Given the description of an element on the screen output the (x, y) to click on. 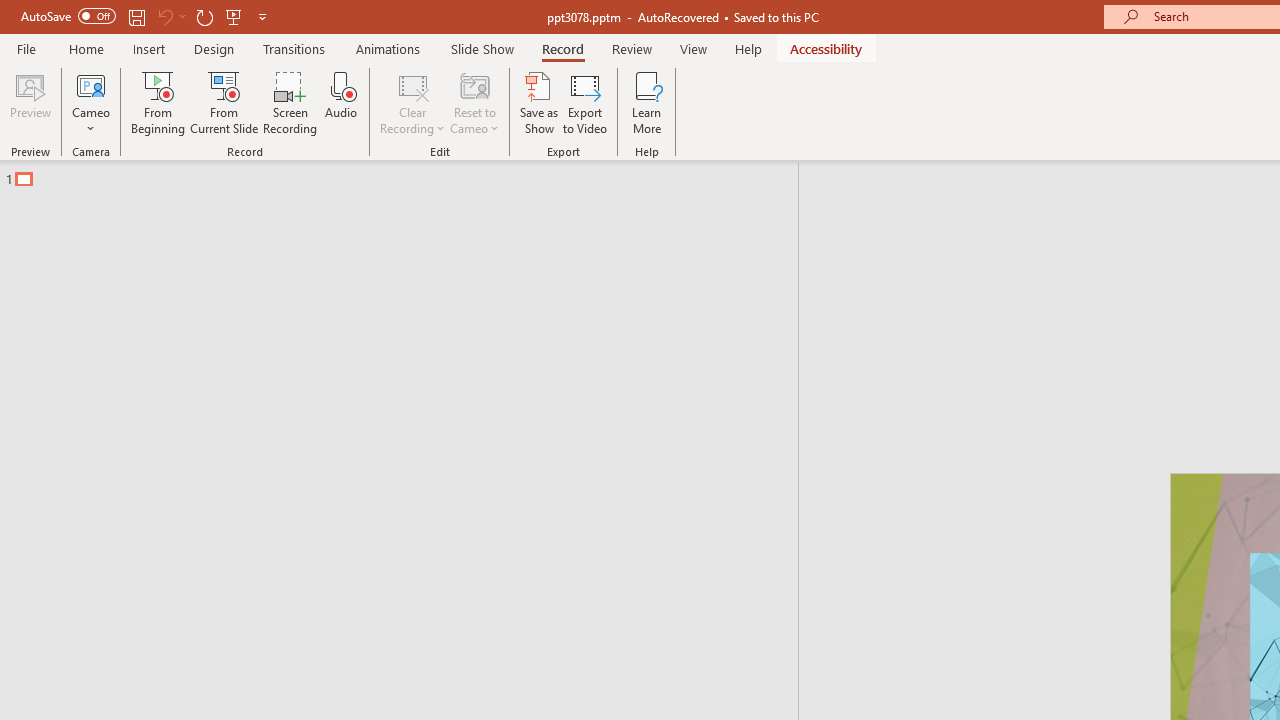
Learn More (646, 102)
Reset to Cameo (474, 102)
Outline (408, 174)
